Given the description of an element on the screen output the (x, y) to click on. 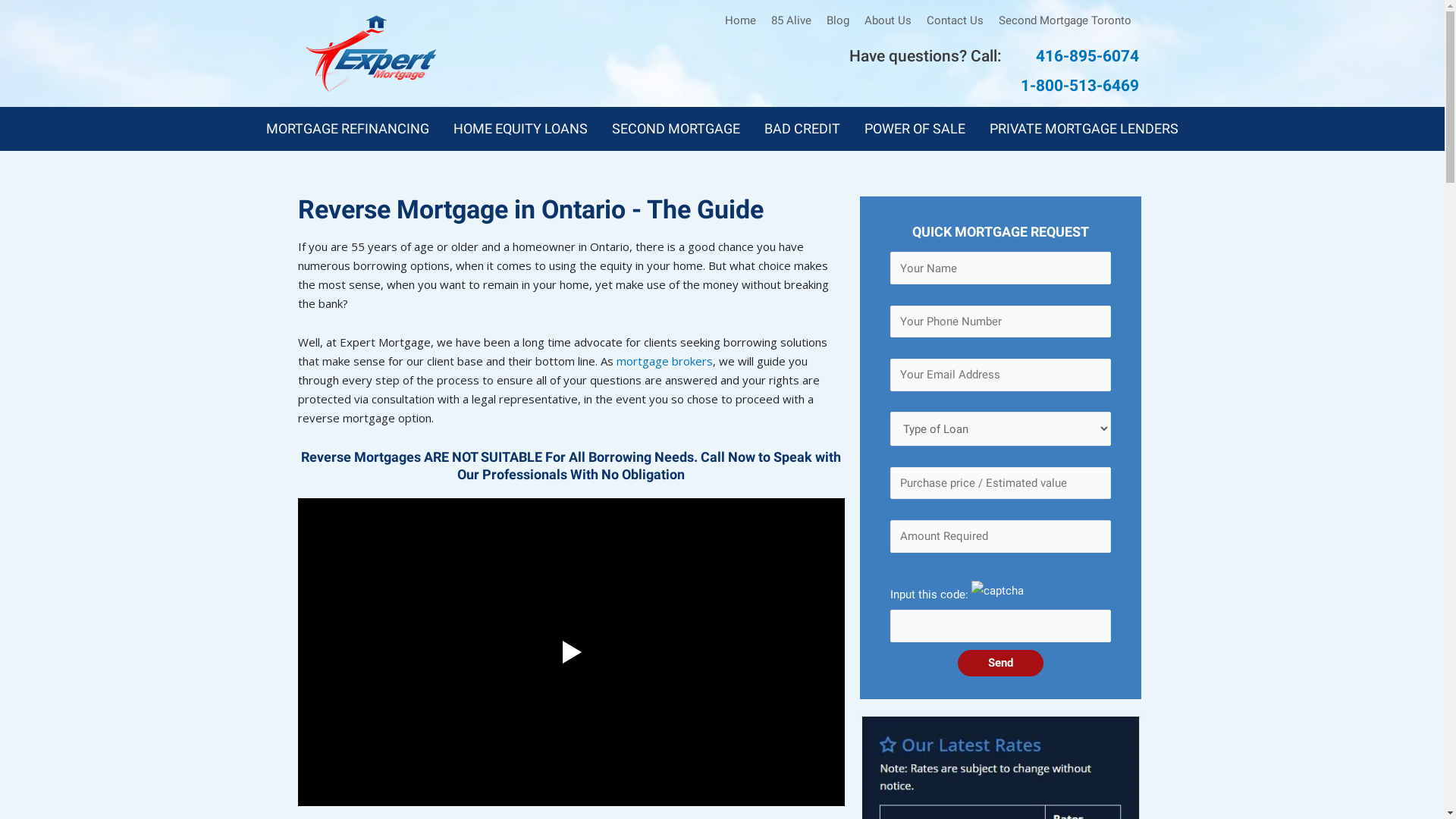
POWER OF SALE Element type: text (914, 128)
HOME EQUITY LOANS Element type: text (520, 128)
MORTGAGE REFINANCING Element type: text (347, 128)
416-895-6074 Element type: text (1087, 56)
About Us Element type: text (887, 20)
BAD CREDIT Element type: text (802, 128)
Send Element type: text (1000, 662)
Contact Us Element type: text (955, 20)
PRIVATE MORTGAGE LENDERS Element type: text (1083, 128)
1-800-513-6469 Element type: text (1079, 85)
SECOND MORTGAGE Element type: text (675, 128)
85 Alive Element type: text (791, 20)
Second Mortgage Toronto Element type: text (1065, 20)
Home Element type: text (740, 20)
Blog Element type: text (837, 20)
mortgage brokers Element type: text (663, 360)
